Given the description of an element on the screen output the (x, y) to click on. 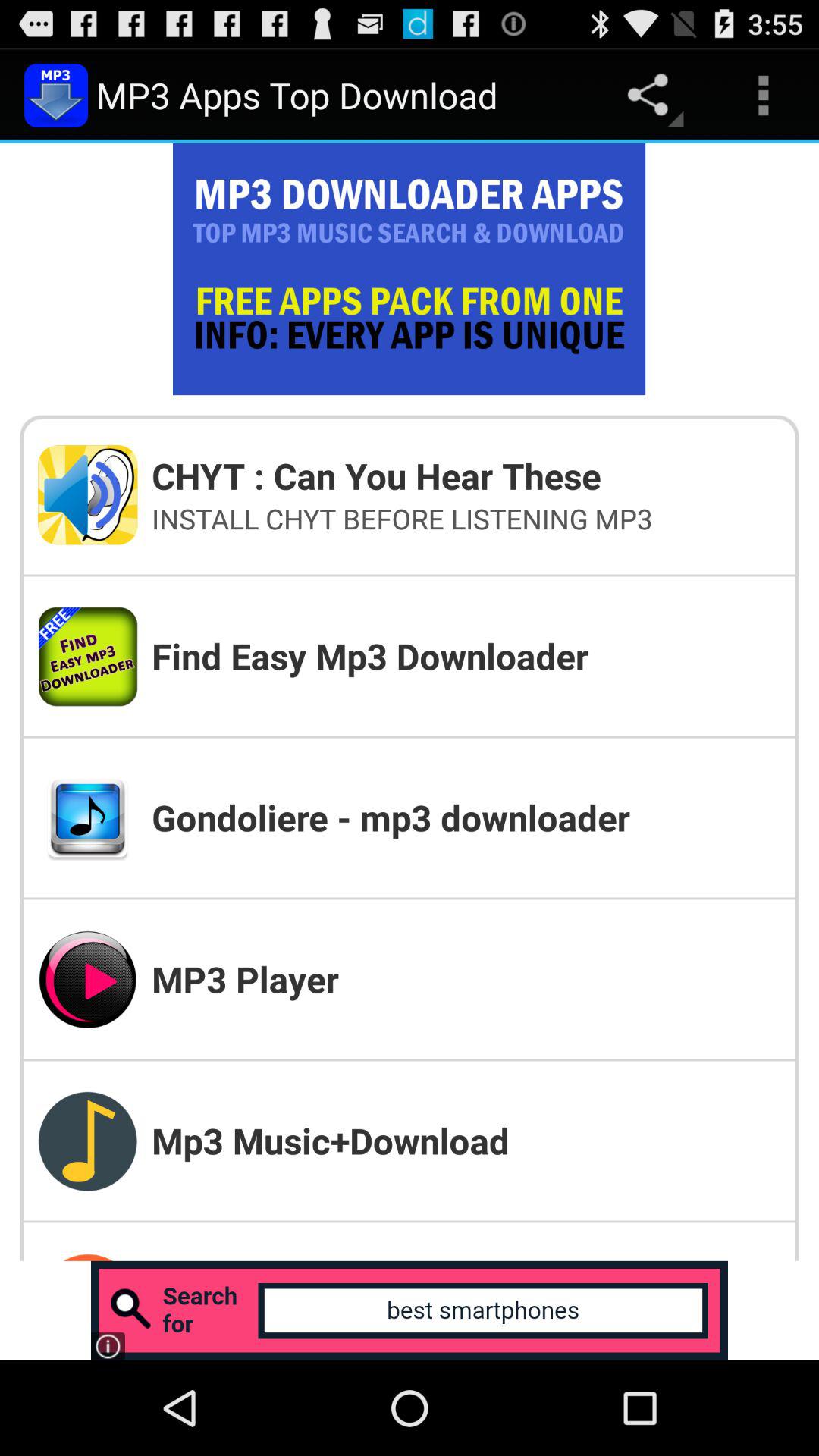
launch the mp3 player icon (465, 978)
